Given the description of an element on the screen output the (x, y) to click on. 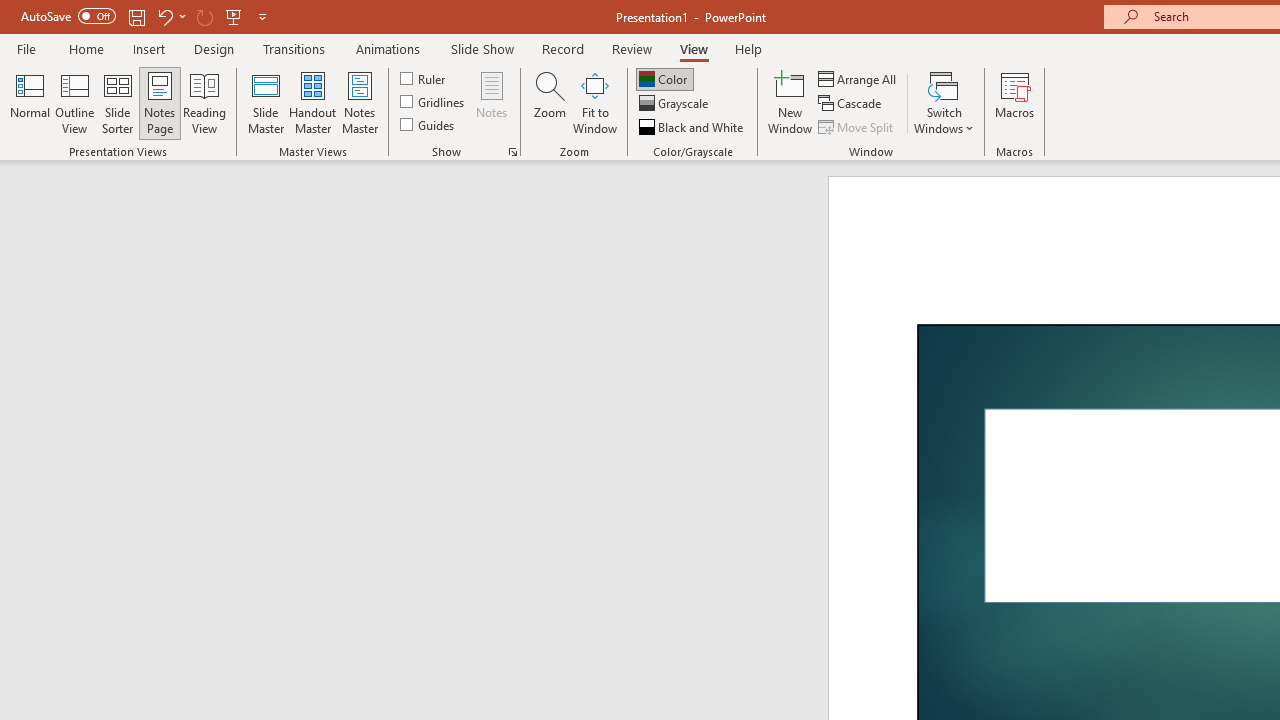
New Window (790, 102)
Reading View (204, 102)
